Given the description of an element on the screen output the (x, y) to click on. 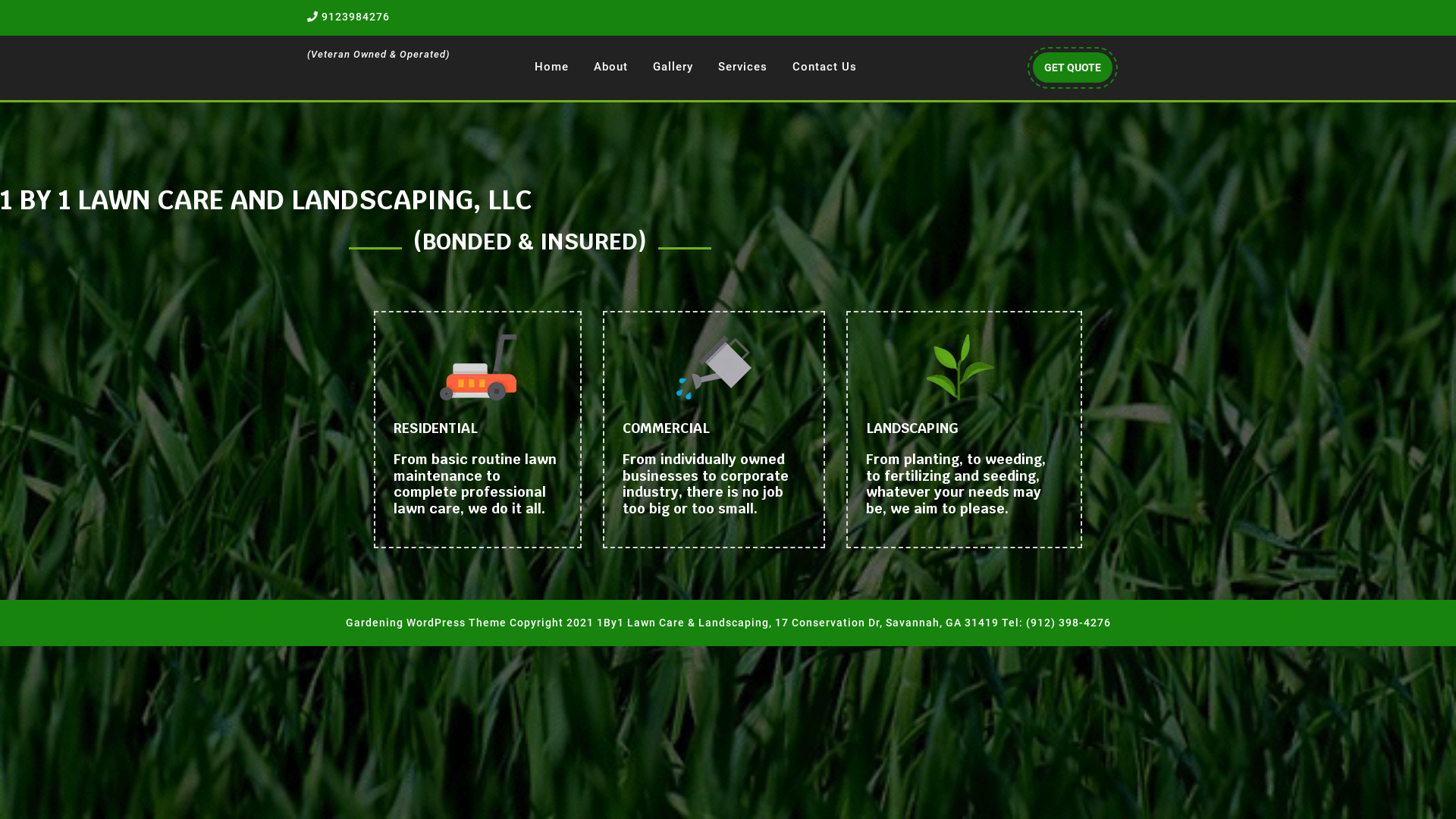
Services Element type: text (742, 66)
Contact Us Element type: text (824, 66)
About Element type: text (610, 66)
Gardening WordPress Theme Element type: text (425, 622)
GET QUOTE
Get A Quote Element type: text (1072, 66)
Gallery Element type: text (672, 66)
Home Element type: text (551, 66)
